Given the description of an element on the screen output the (x, y) to click on. 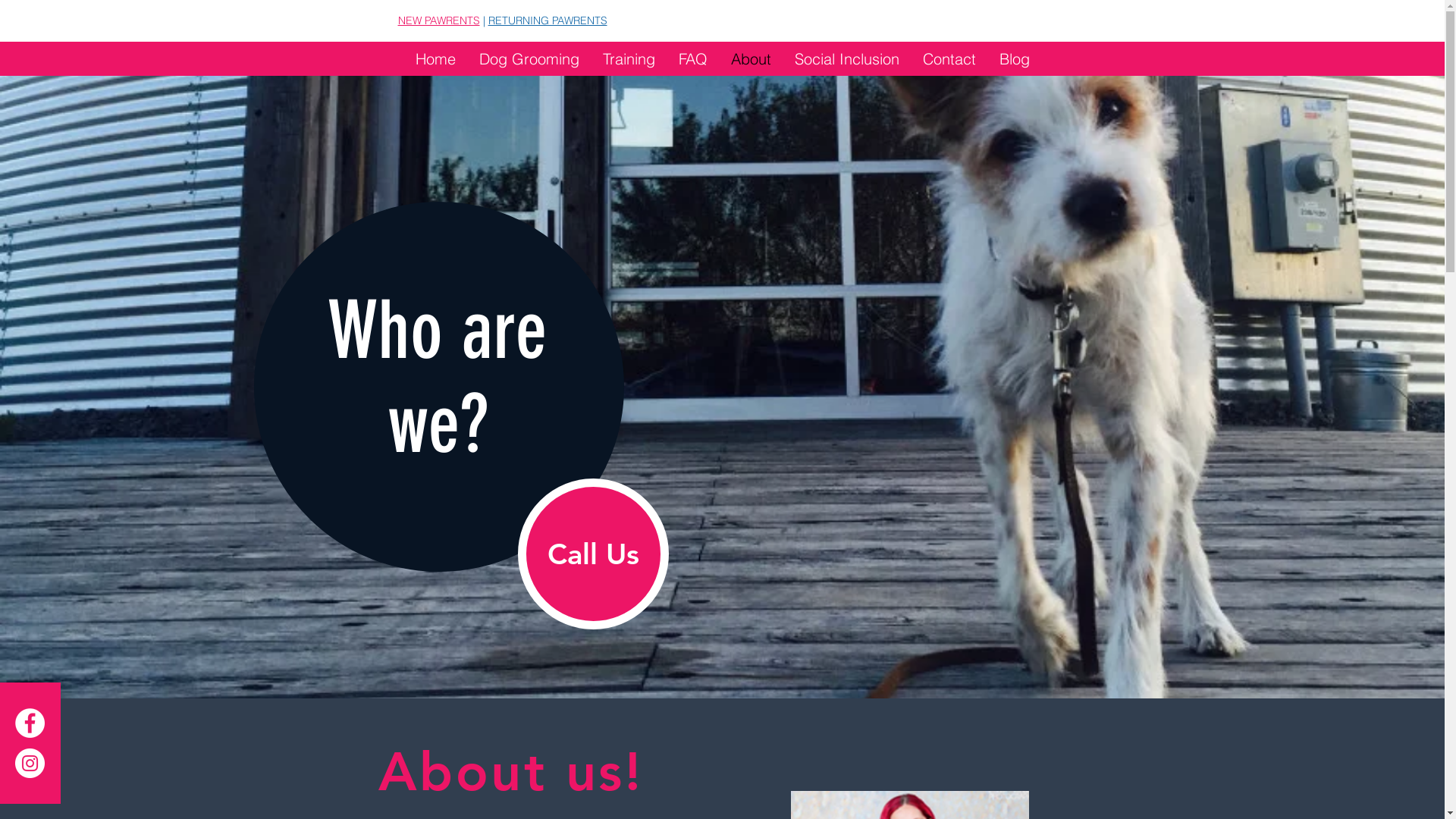
Blog Element type: text (1014, 58)
Home Element type: text (435, 58)
Social Inclusion Element type: text (846, 58)
NEW PAWRENTS Element type: text (438, 20)
FAQ Element type: text (692, 58)
Contact Element type: text (948, 58)
Call Us Element type: text (592, 553)
About Element type: text (750, 58)
RETURNING PAWRENTS Element type: text (547, 20)
Dog Grooming Element type: text (528, 58)
Training Element type: text (628, 58)
